Given the description of an element on the screen output the (x, y) to click on. 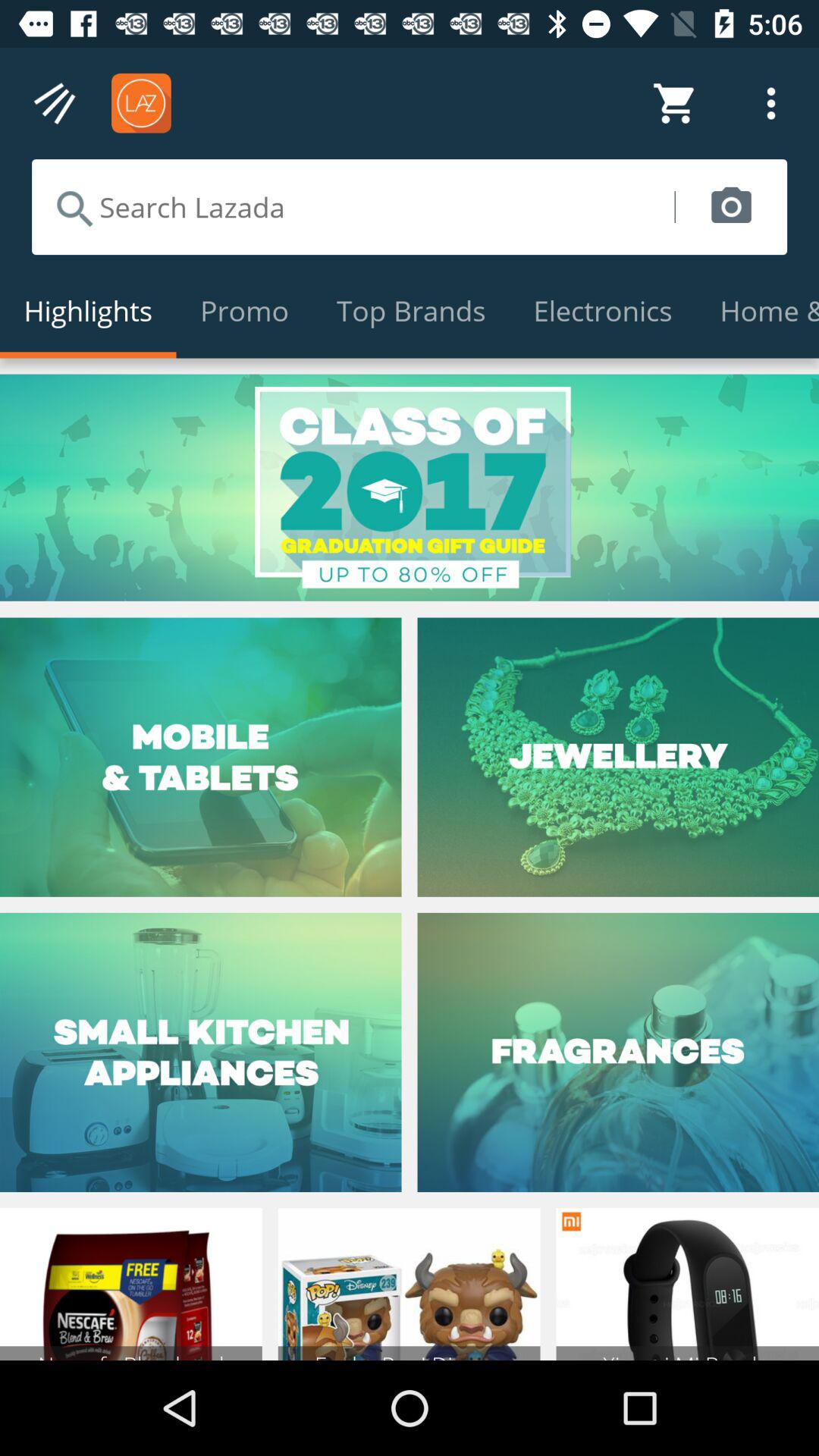
turn on the icon above highlights item (352, 206)
